Given the description of an element on the screen output the (x, y) to click on. 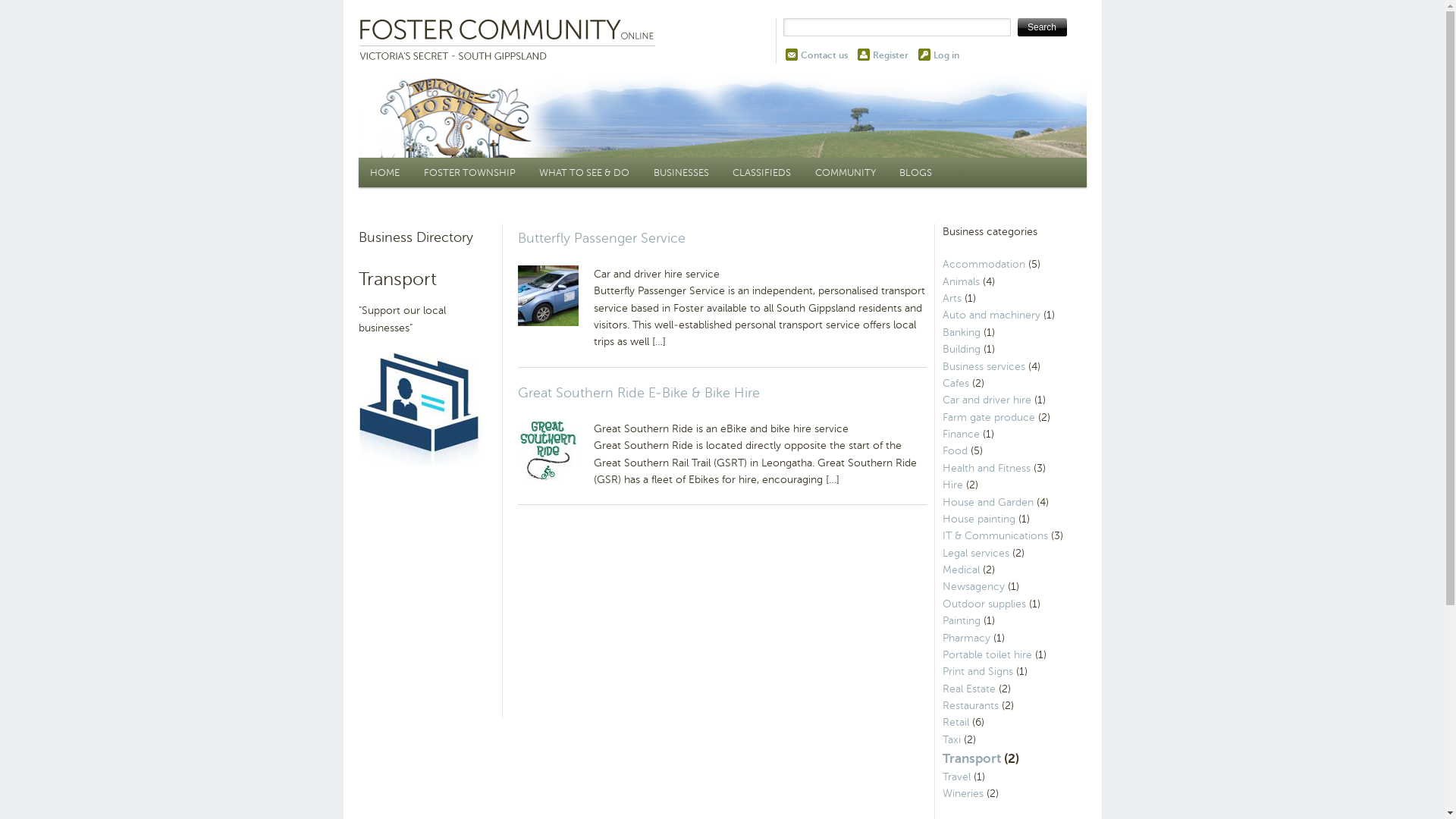
Travel Element type: text (955, 776)
Portable toilet hire Element type: text (986, 654)
House painting Element type: text (977, 518)
House and Garden Element type: text (986, 501)
Accommodation Element type: text (982, 263)
Pharmacy Element type: text (965, 637)
Building Element type: text (960, 348)
Newsagency Element type: text (972, 586)
COMMUNITY Element type: text (845, 172)
Legal services Element type: text (974, 552)
Restaurants Element type: text (969, 705)
CLASSIFIEDS Element type: text (761, 172)
Finance Element type: text (960, 433)
Farm gate produce Element type: text (987, 417)
Victoria's Secret | South Gippsland: Home Element type: hover (509, 40)
Arts Element type: text (950, 297)
Hire Element type: text (951, 484)
Log in Element type: text (945, 55)
Register Element type: text (889, 55)
Outdoor supplies Element type: text (983, 603)
Business services Element type: text (982, 366)
Print and Signs Element type: text (976, 671)
IT & Communications Element type: text (994, 535)
Search Element type: text (1041, 27)
Health and Fitness Element type: text (985, 467)
Transport Element type: text (970, 757)
Retail Element type: text (954, 721)
Contact us Element type: text (823, 55)
Real Estate Element type: text (967, 688)
WHAT TO SEE & DO Element type: text (584, 172)
Cafes Element type: text (954, 382)
Taxi Element type: text (950, 739)
Painting Element type: text (960, 620)
Wineries Element type: text (961, 793)
BUSINESSES Element type: text (681, 172)
BLOGS Element type: text (915, 172)
Food Element type: text (953, 450)
HOME Element type: text (384, 172)
Car and driver hire Element type: text (985, 399)
Banking Element type: text (960, 332)
Great Southern Ride E-Bike & Bike Hire Element type: text (638, 392)
Auto and machinery Element type: text (990, 314)
Animals Element type: text (960, 281)
FOSTER TOWNSHIP Element type: text (469, 172)
Advertisement Element type: hover (719, 589)
Medical Element type: text (960, 569)
Butterfly Passenger Service Element type: text (600, 237)
